Given the description of an element on the screen output the (x, y) to click on. 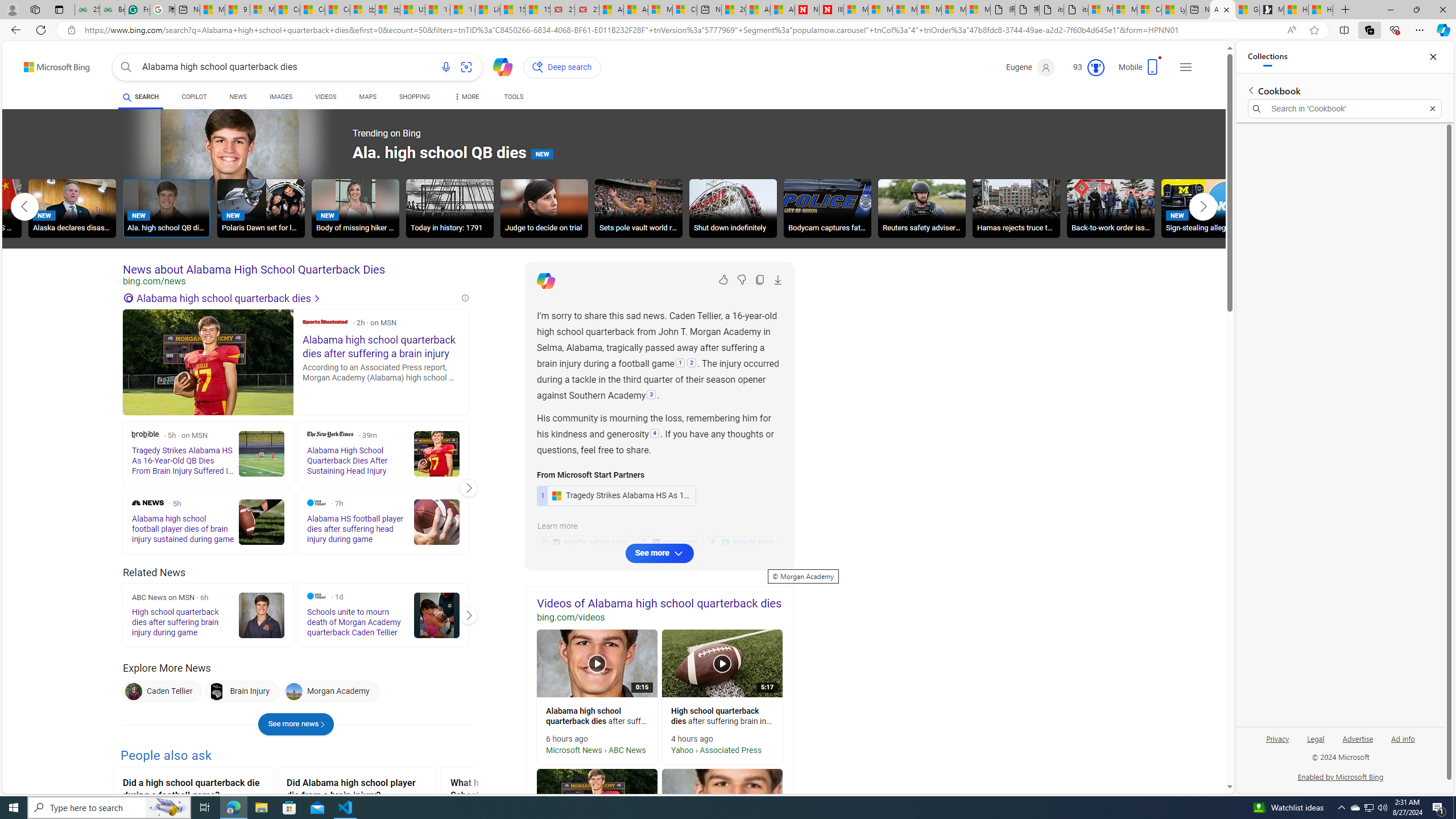
Search button (126, 66)
Caden Tellier (162, 691)
See more news (295, 724)
SHOPPING (414, 98)
Class: medal-circled (1095, 67)
Back-to-work order issued (1110, 207)
